Given the description of an element on the screen output the (x, y) to click on. 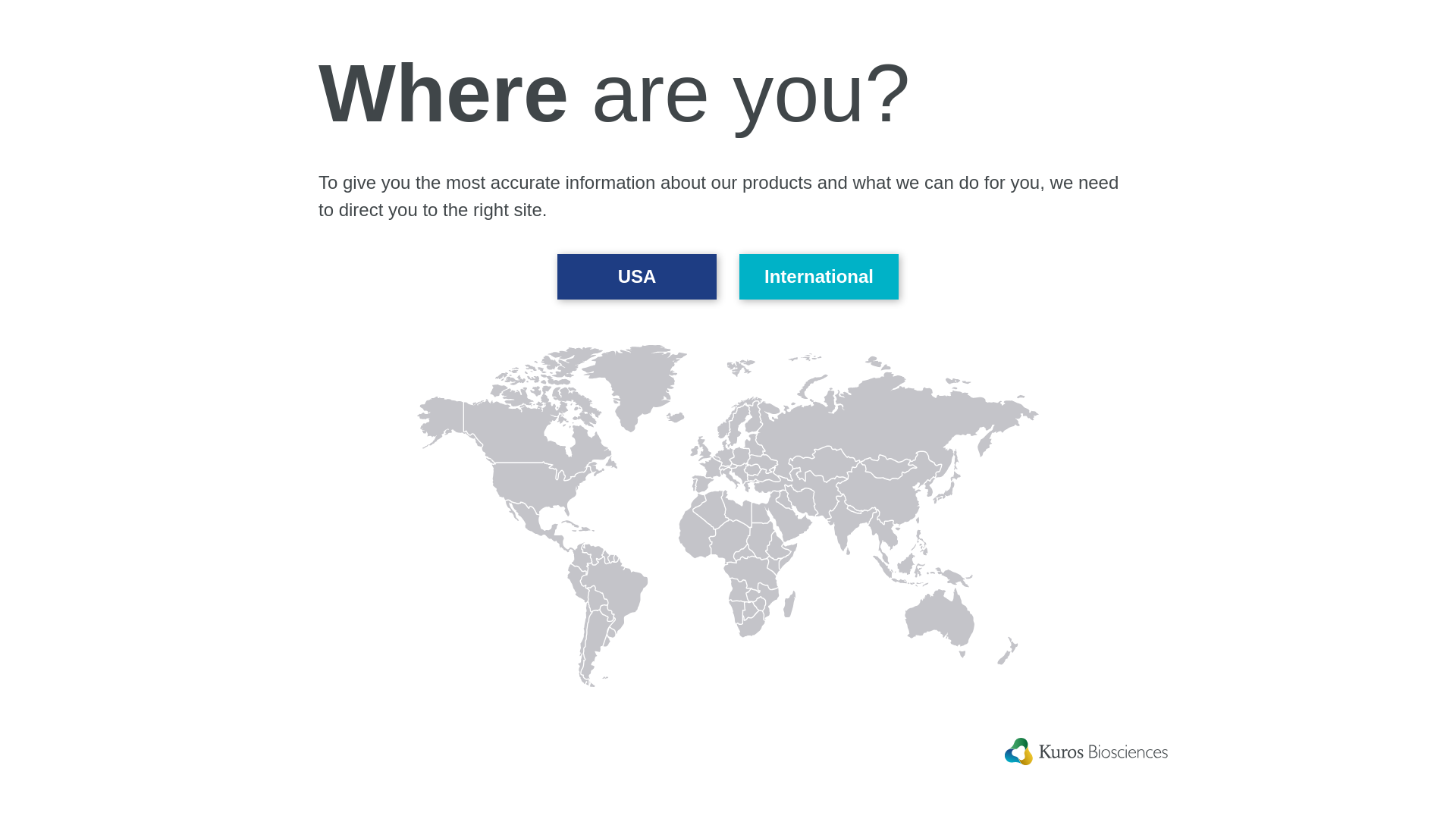
International (818, 276)
Go back to the homepage (133, 38)
USA (636, 276)
